Given the description of an element on the screen output the (x, y) to click on. 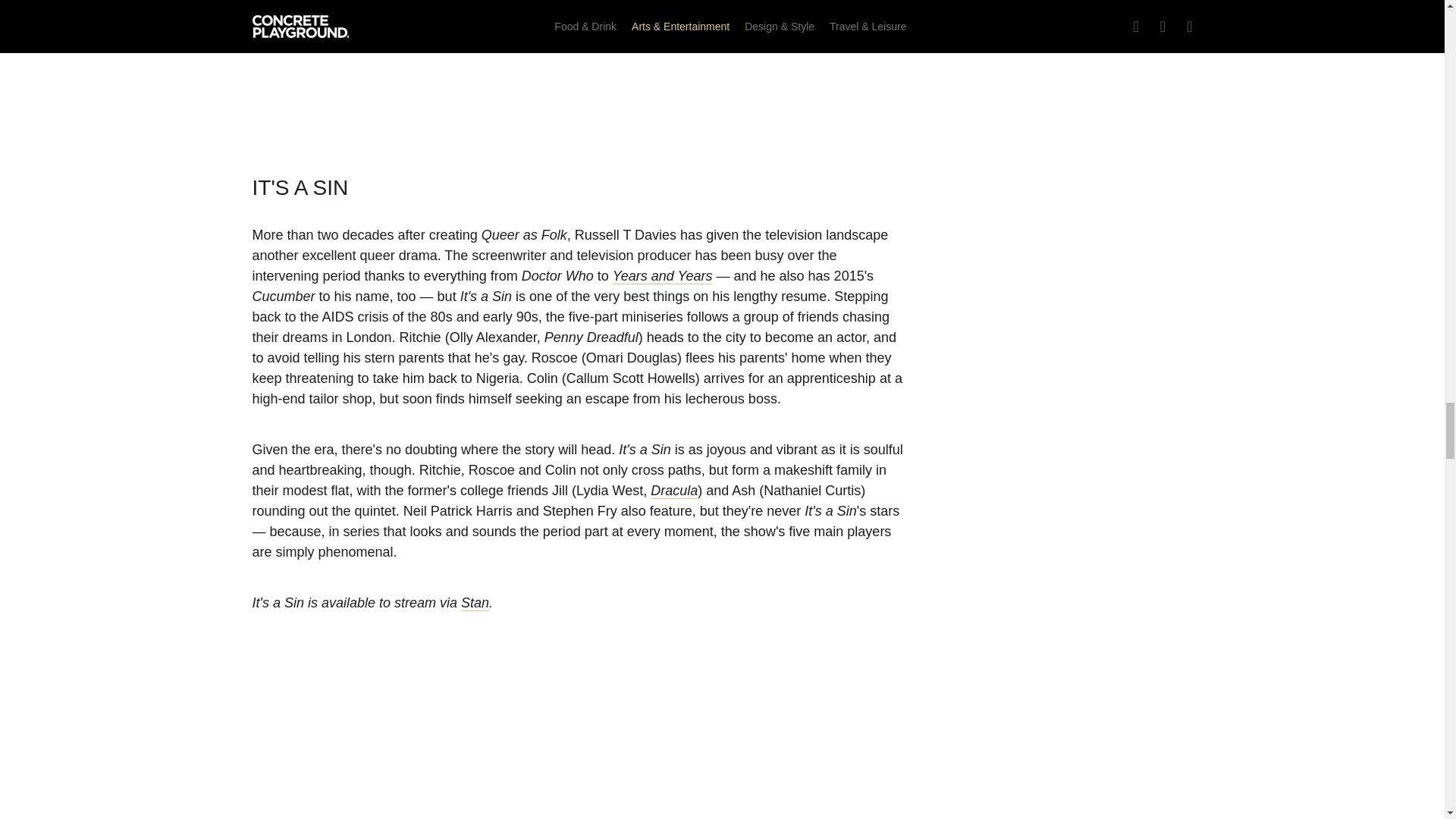
YouTube video player (577, 746)
YouTube video player (577, 67)
